Given the description of an element on the screen output the (x, y) to click on. 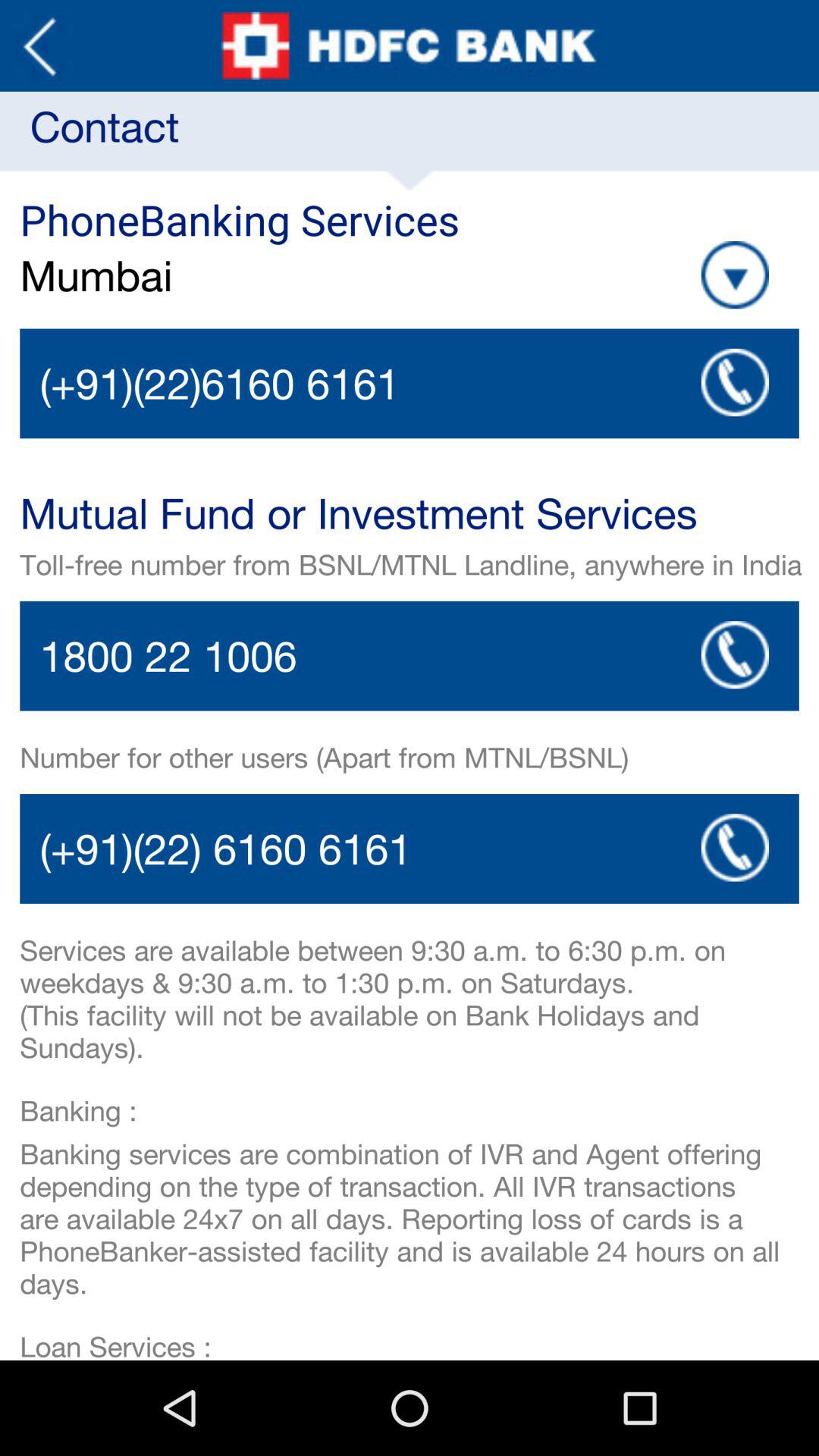
phone (409, 383)
